Given the description of an element on the screen output the (x, y) to click on. 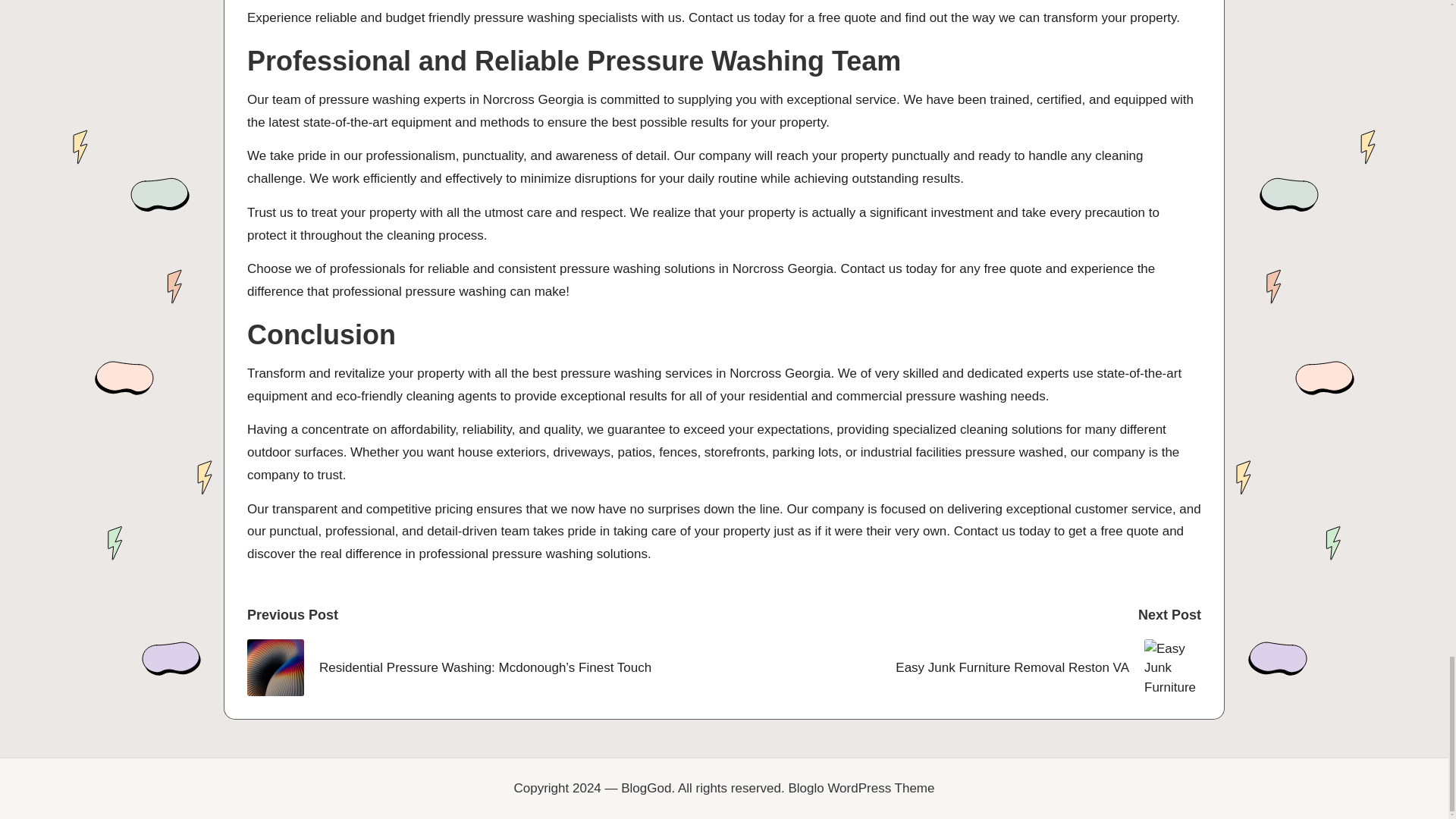
Easy Junk Furniture Removal Reston VA (962, 667)
Bloglo WordPress Theme (860, 788)
